Given the description of an element on the screen output the (x, y) to click on. 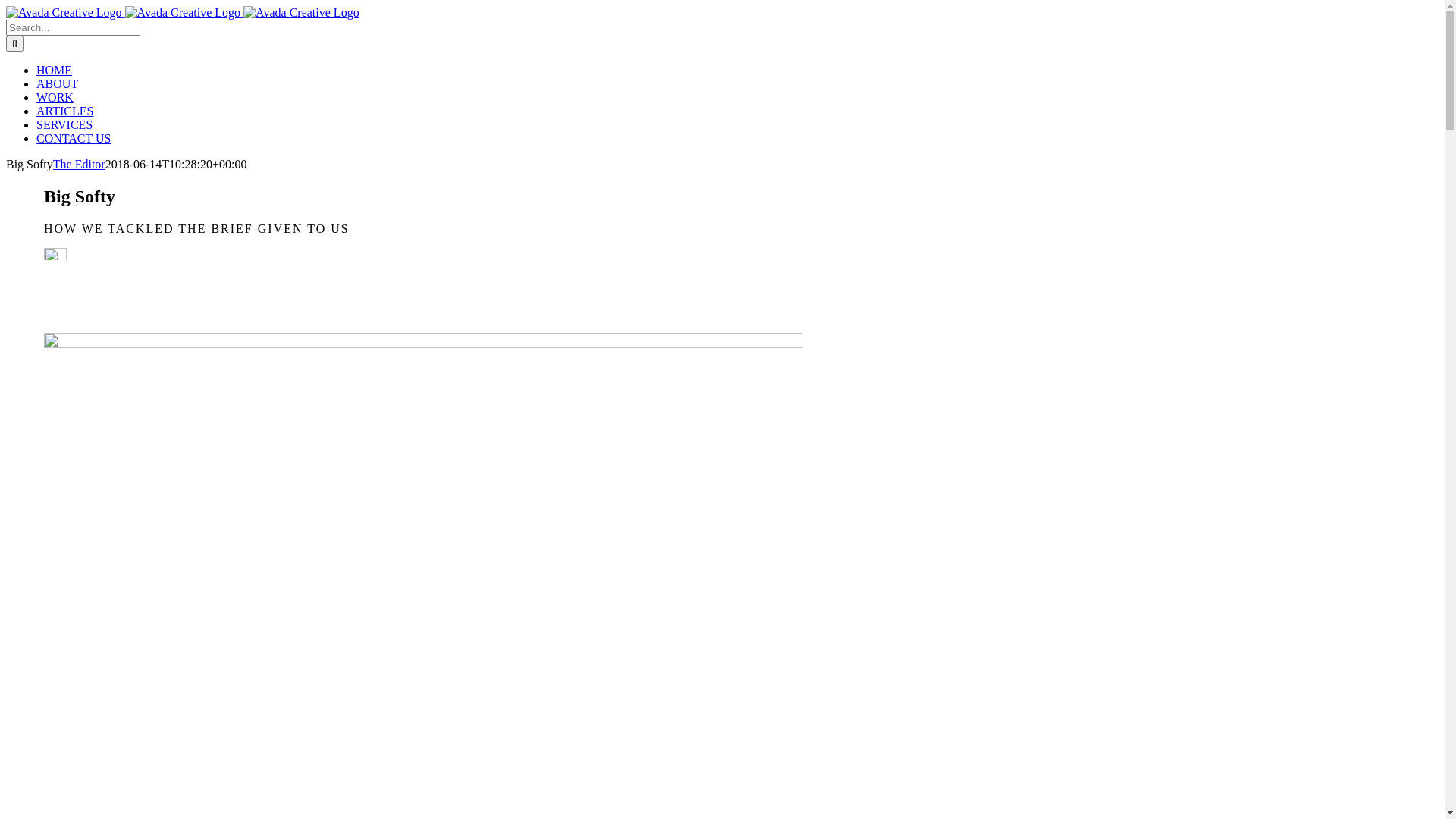
divide Element type: hover (54, 253)
HOME Element type: text (54, 69)
The Editor Element type: text (79, 163)
CONTACT US Element type: text (73, 137)
ABOUT Element type: text (57, 83)
creative-portfolio-2-1 Element type: hover (422, 343)
WORK Element type: text (54, 97)
ARTICLES Element type: text (64, 110)
Skip to content Element type: text (5, 5)
SERVICES Element type: text (64, 124)
